Given the description of an element on the screen output the (x, y) to click on. 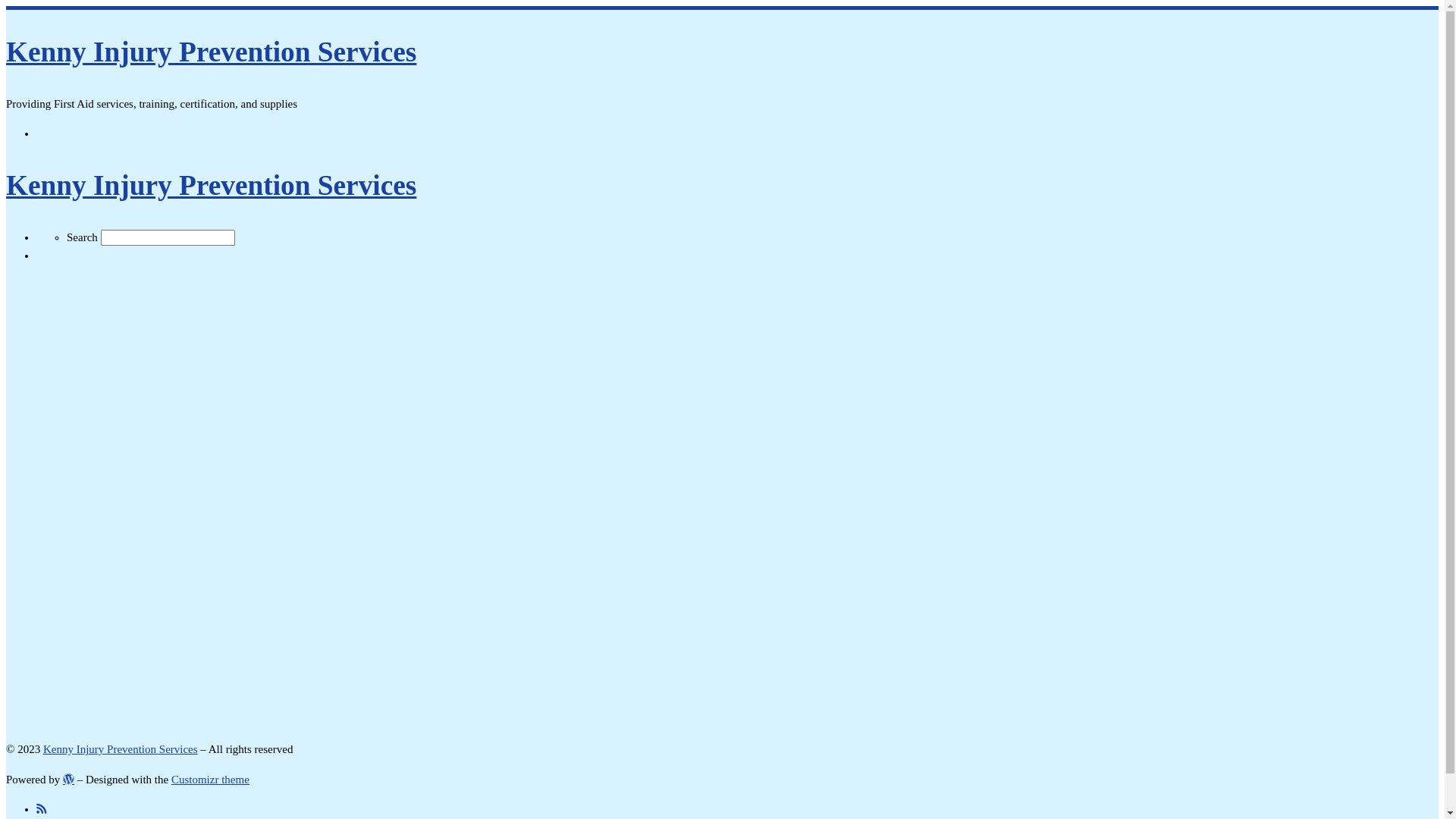
Kenny Injury Prevention Services Element type: text (211, 184)
Kenny Injury Prevention Services Element type: text (120, 749)
Kenny Injury Prevention Services Element type: text (211, 51)
Subscribe to my rss feed Element type: hover (41, 809)
Customizr theme Element type: text (210, 779)
Powered by WordPress Element type: hover (68, 778)
